Given the description of an element on the screen output the (x, y) to click on. 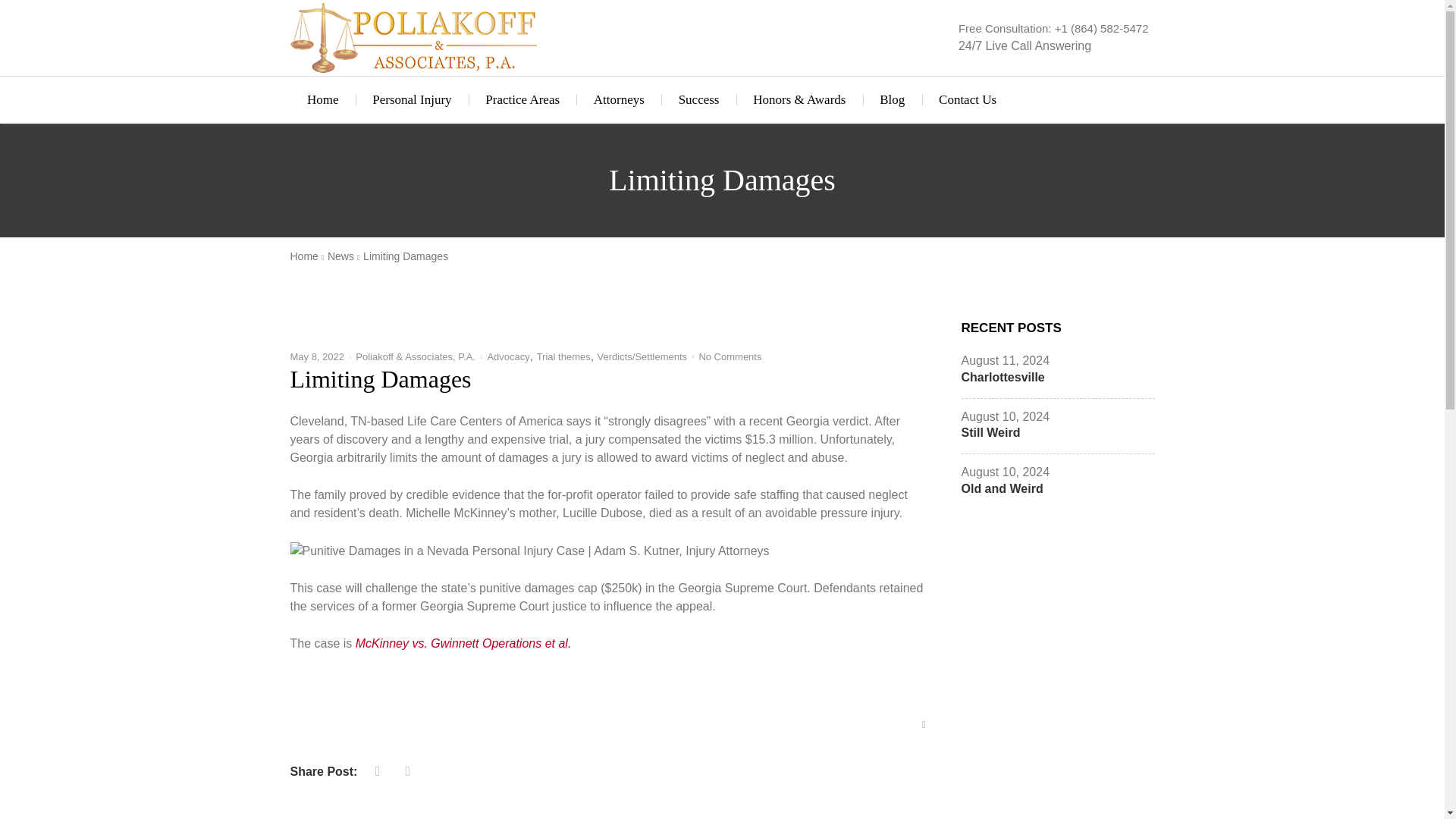
Personal Injury (411, 99)
Practice Areas (522, 99)
News (343, 256)
Home (322, 99)
Blog (892, 99)
Trial themes (564, 356)
Charlottesville (1002, 377)
Success (698, 99)
Attorneys (618, 99)
Old and Weird (1001, 488)
